Given the description of an element on the screen output the (x, y) to click on. 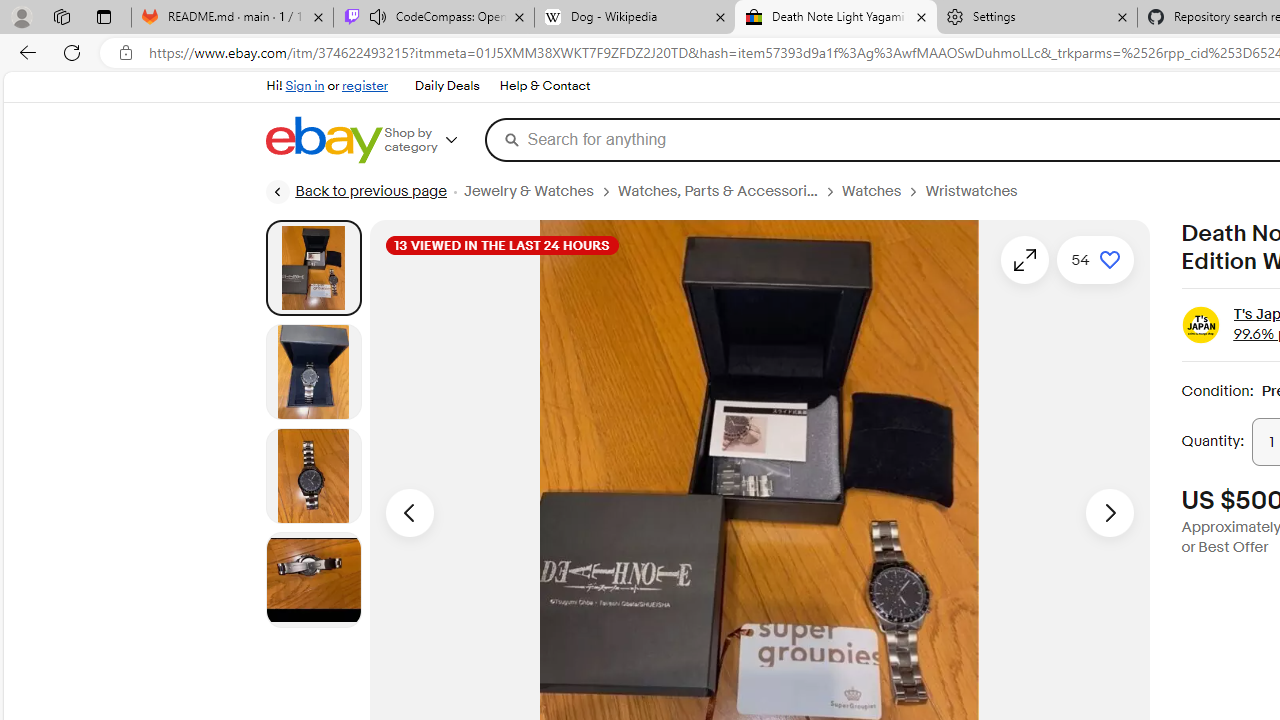
Watches (882, 191)
Wristwatches (979, 191)
Wristwatches (971, 191)
Picture 2 of 4 (313, 371)
Picture 1 of 4 (313, 268)
Watches, Parts & Accessories (716, 191)
Dog - Wikipedia (634, 17)
Help & Contact (545, 86)
Class: ux-action (1201, 325)
